Given the description of an element on the screen output the (x, y) to click on. 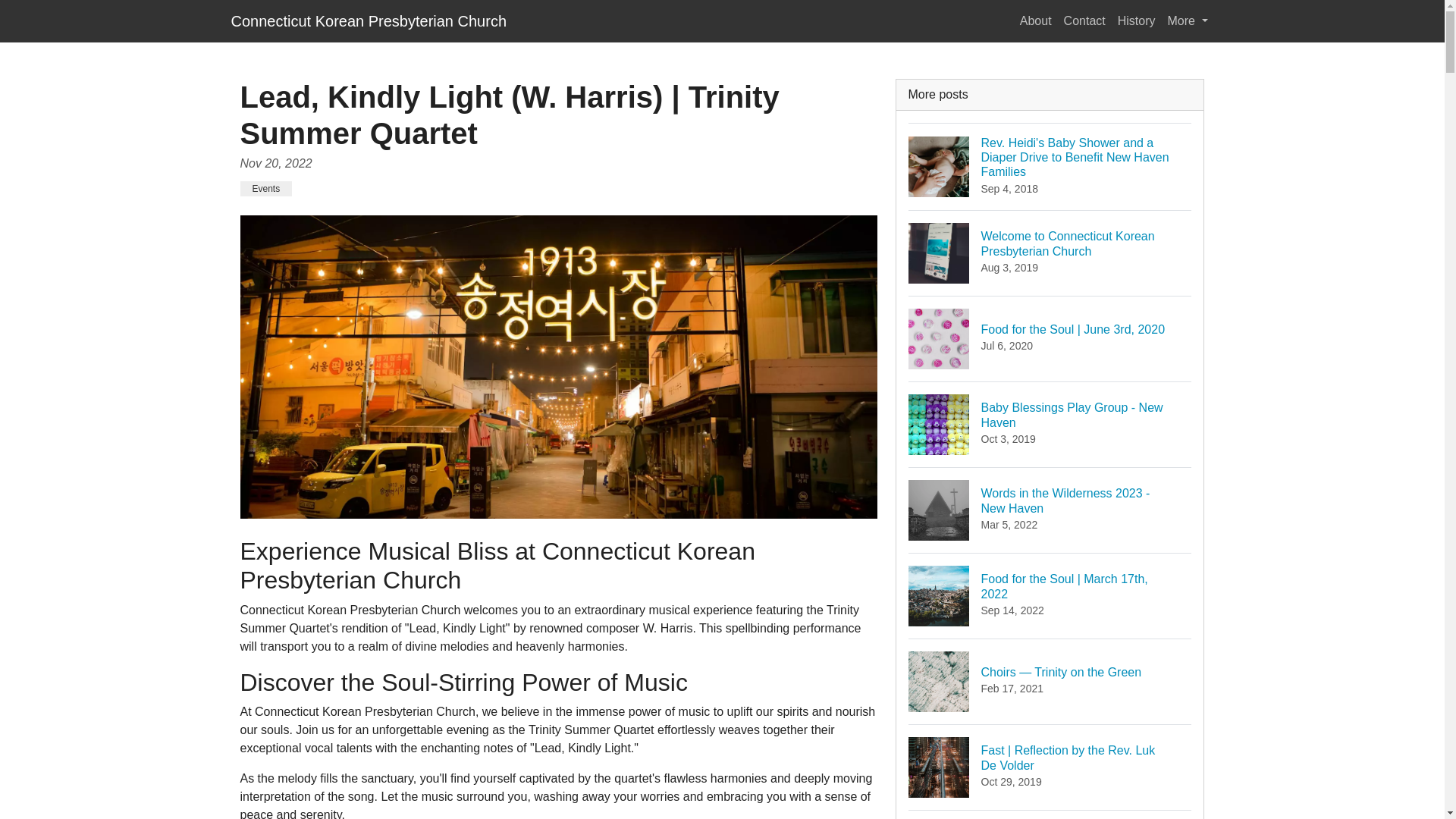
History (1136, 20)
Events (266, 188)
Contact (1085, 20)
Connecticut Korean Presbyterian Church (368, 20)
More (1050, 509)
